Given the description of an element on the screen output the (x, y) to click on. 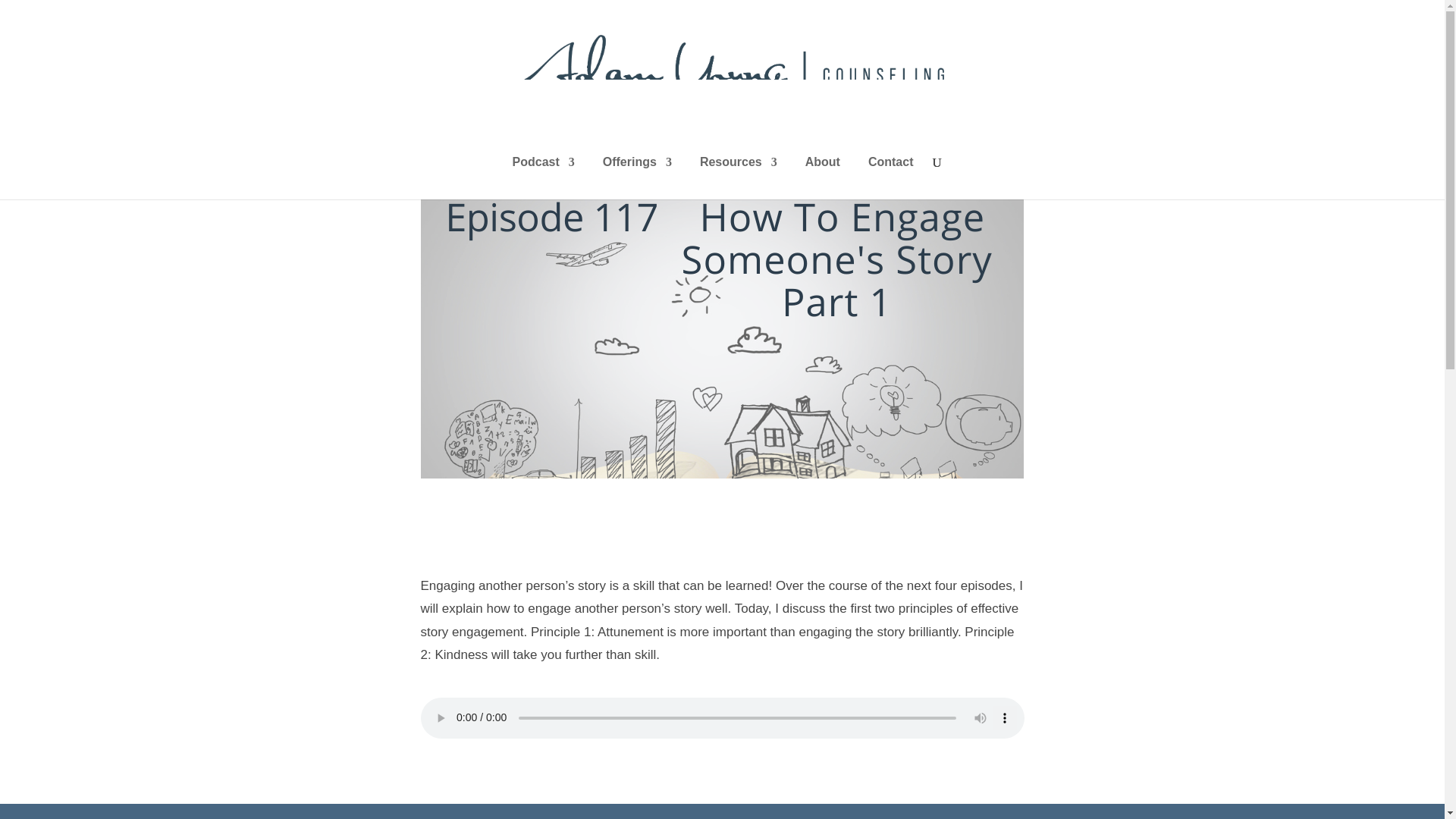
Resources (738, 175)
Podcast (543, 175)
Contact (890, 175)
Offerings (636, 175)
